Given the description of an element on the screen output the (x, y) to click on. 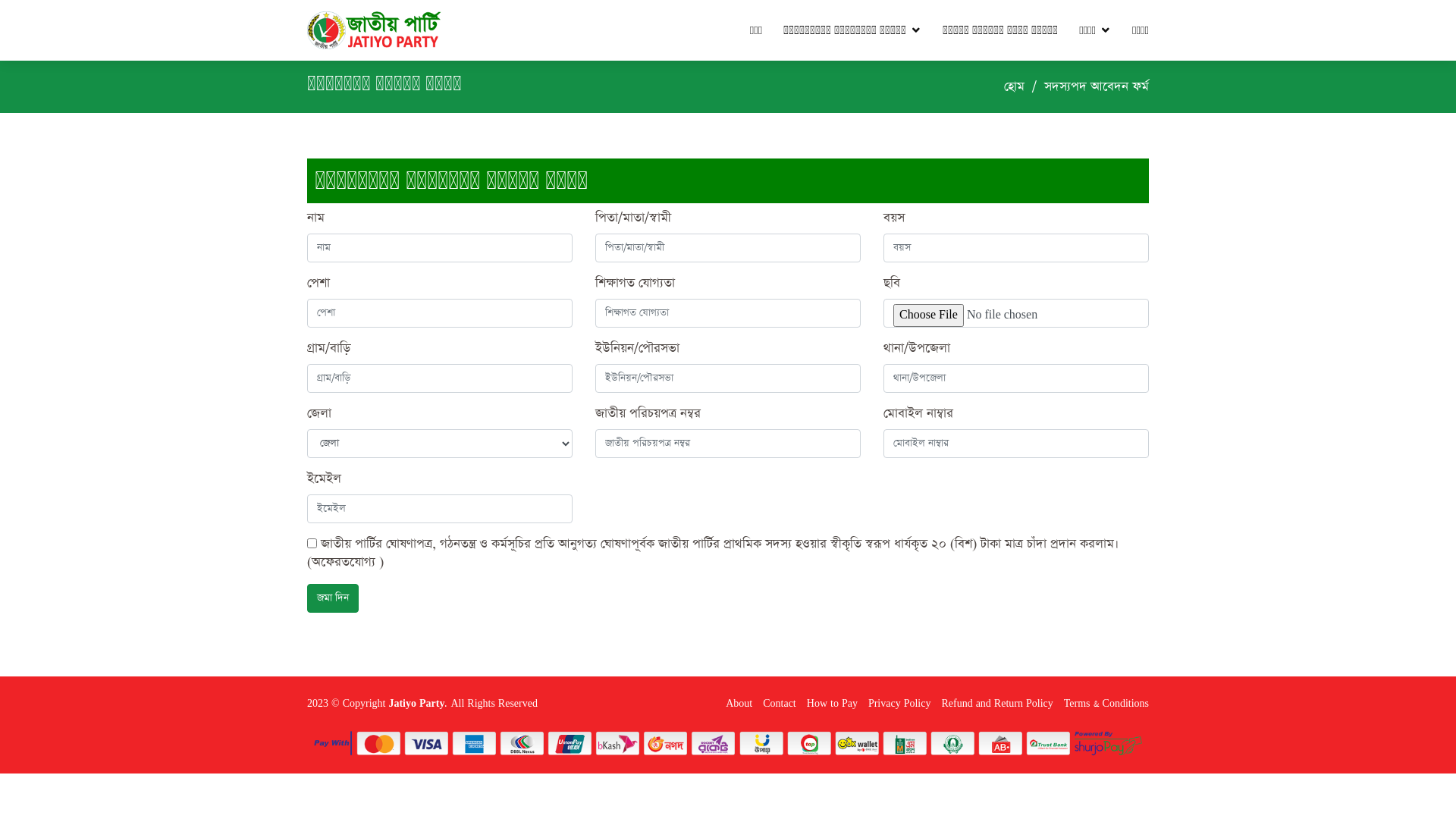
Terms & Conditions Element type: text (1102, 703)
How to Pay Element type: text (828, 703)
About Element type: text (735, 703)
Privacy Policy Element type: text (895, 703)
Refund and Return Policy Element type: text (992, 703)
Contact Element type: text (775, 703)
